Given the description of an element on the screen output the (x, y) to click on. 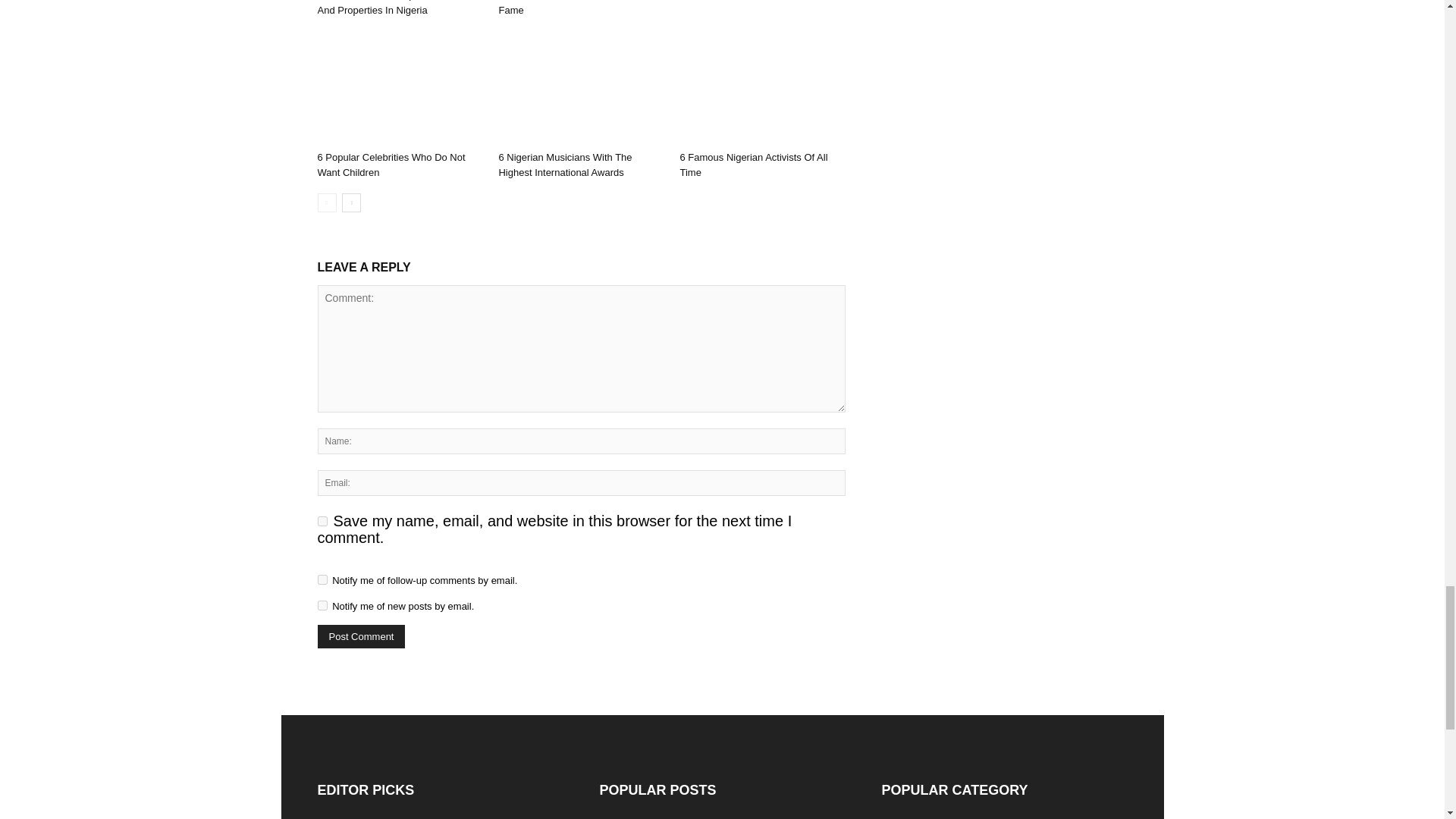
Post Comment (360, 636)
yes (321, 521)
subscribe (321, 579)
subscribe (321, 605)
